Given the description of an element on the screen output the (x, y) to click on. 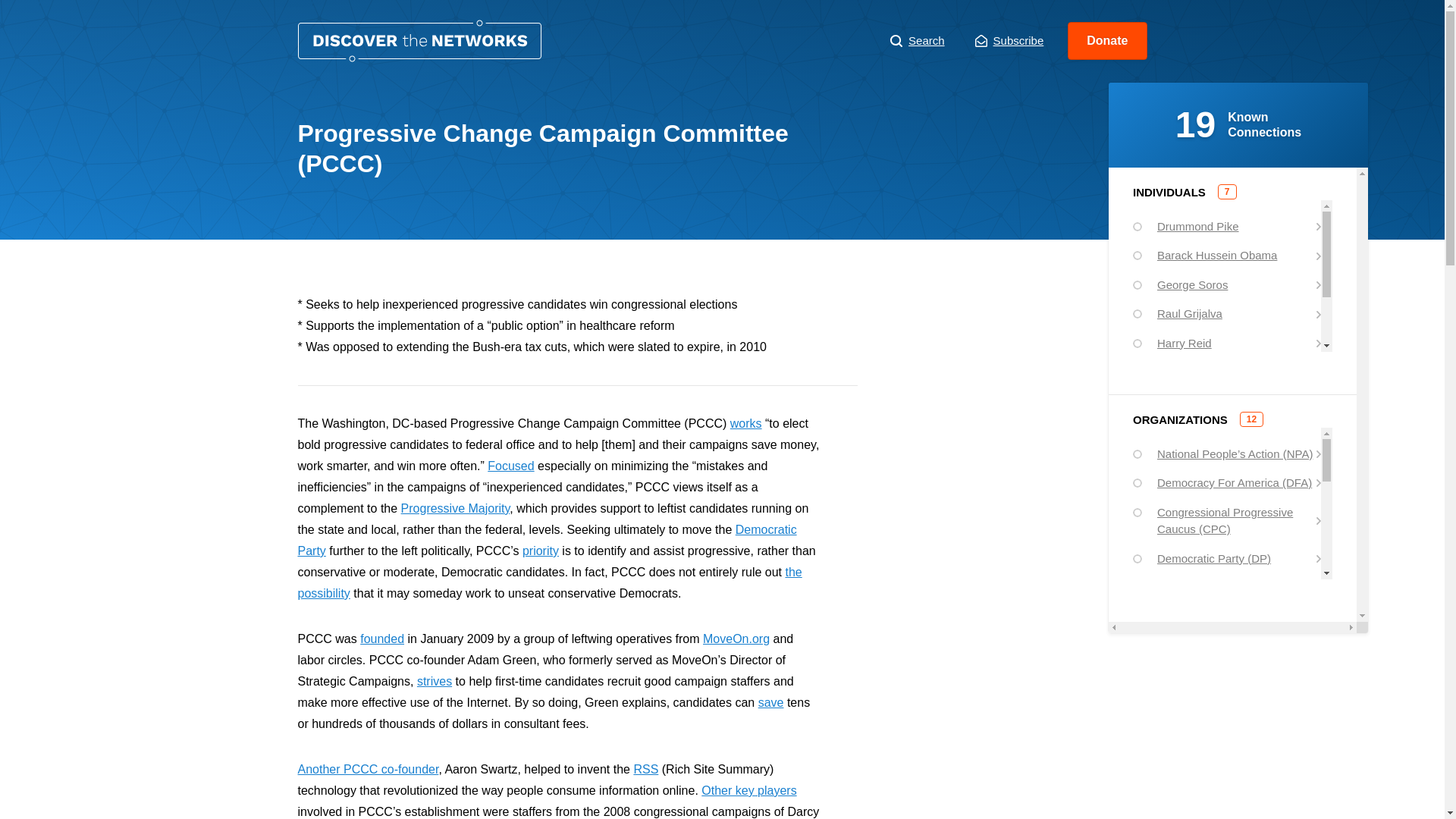
the possibility (549, 582)
Progressive Majority (456, 508)
priority (540, 550)
founded (381, 638)
Focused (510, 465)
RSS (645, 768)
works (745, 422)
Subscribe (1009, 40)
Search (916, 40)
Other key players (748, 789)
strives (433, 680)
MoveOn.org (736, 638)
Democratic Party (546, 540)
save (771, 702)
Another PCCC co-founder (367, 768)
